Given the description of an element on the screen output the (x, y) to click on. 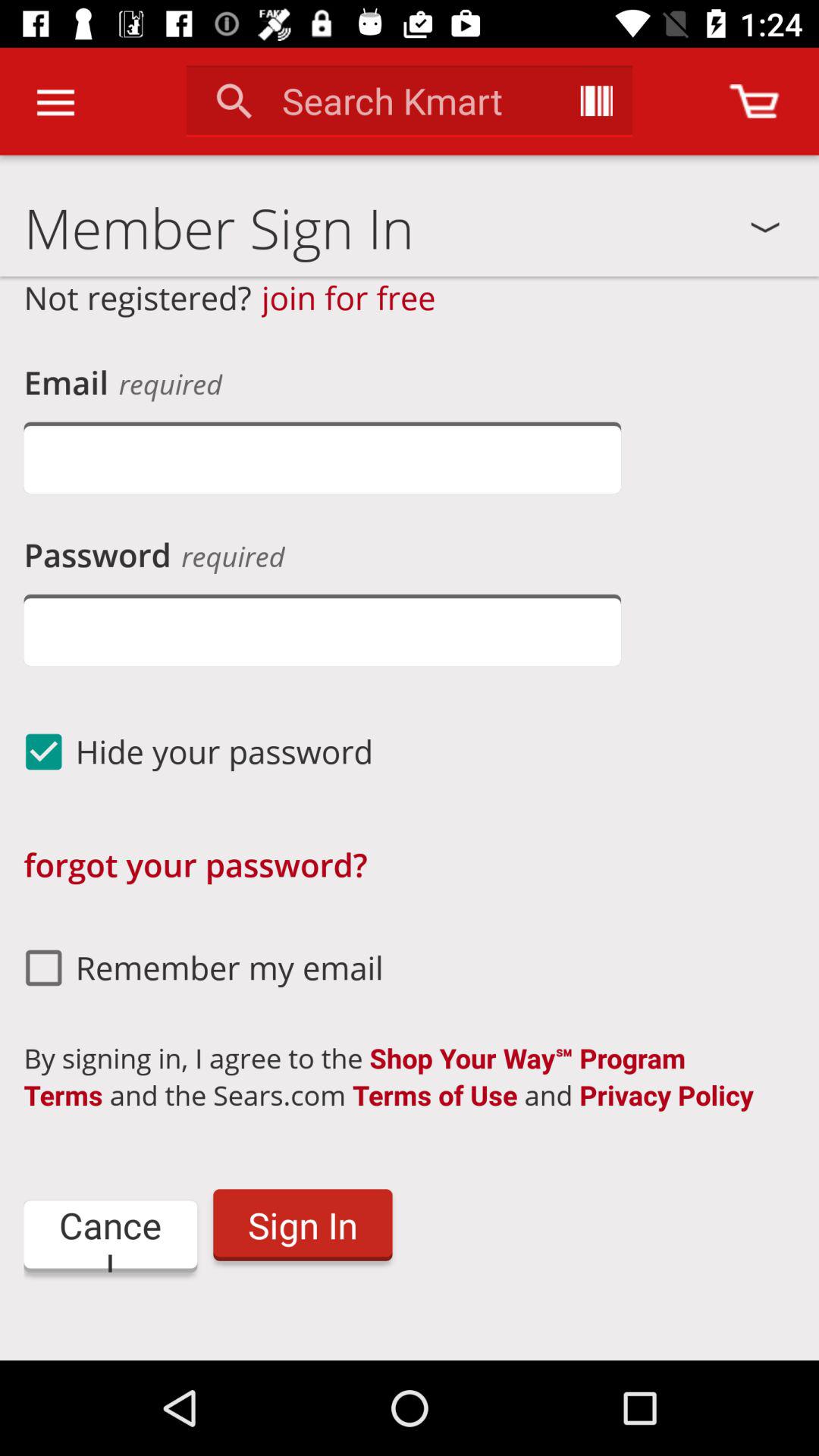
enter in your email address (322, 457)
